Given the description of an element on the screen output the (x, y) to click on. 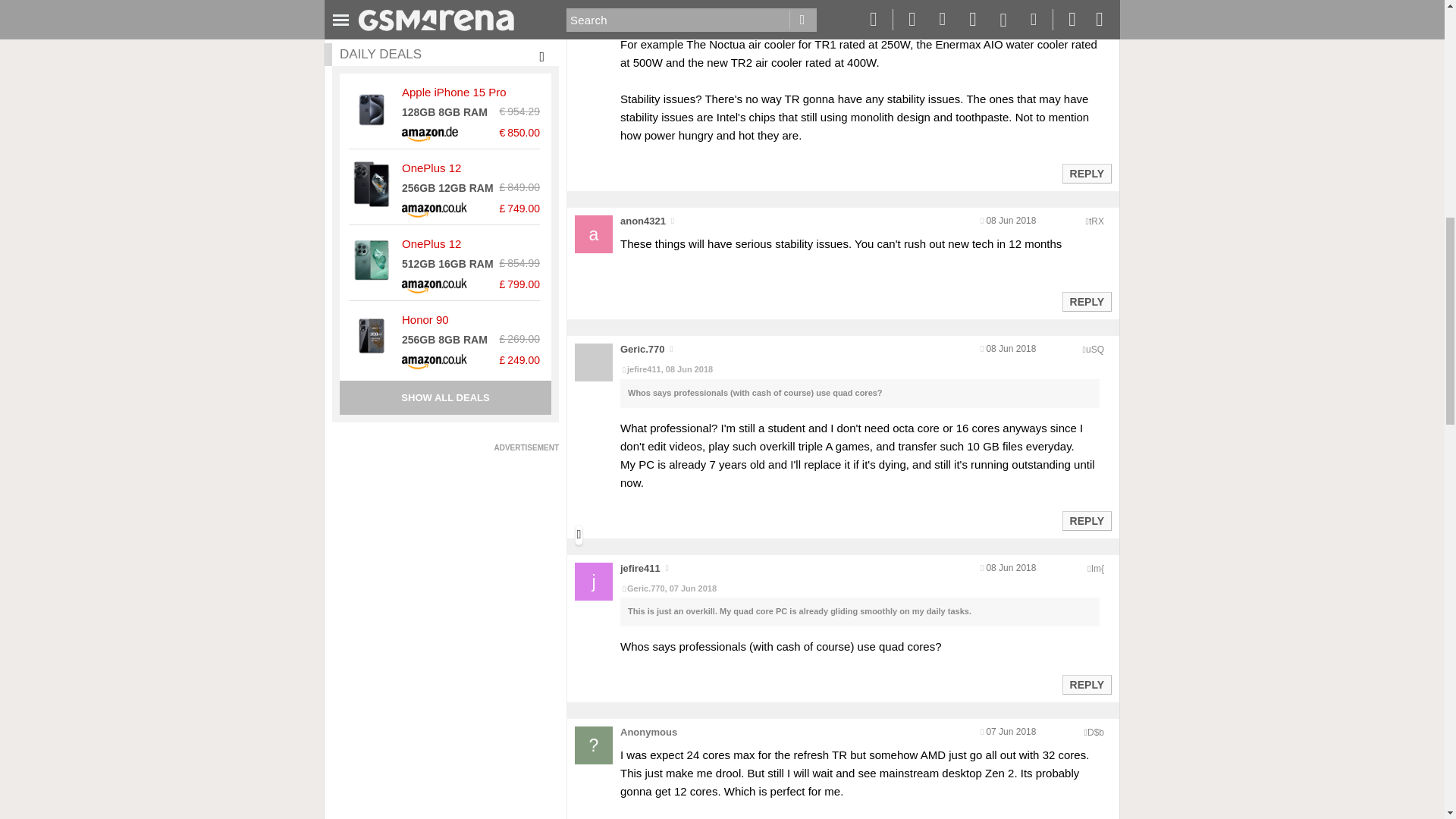
Encoded anonymized location (1094, 348)
Encoded anonymized location (1096, 568)
Reply to this post (1086, 521)
Encoded anonymized location (1096, 221)
Encoded anonymized location (1095, 732)
REPLY (1086, 173)
Reply to this post (1086, 173)
Reply to this post (1086, 684)
Reply to this post (1086, 301)
anon4321 (642, 220)
